Given the description of an element on the screen output the (x, y) to click on. 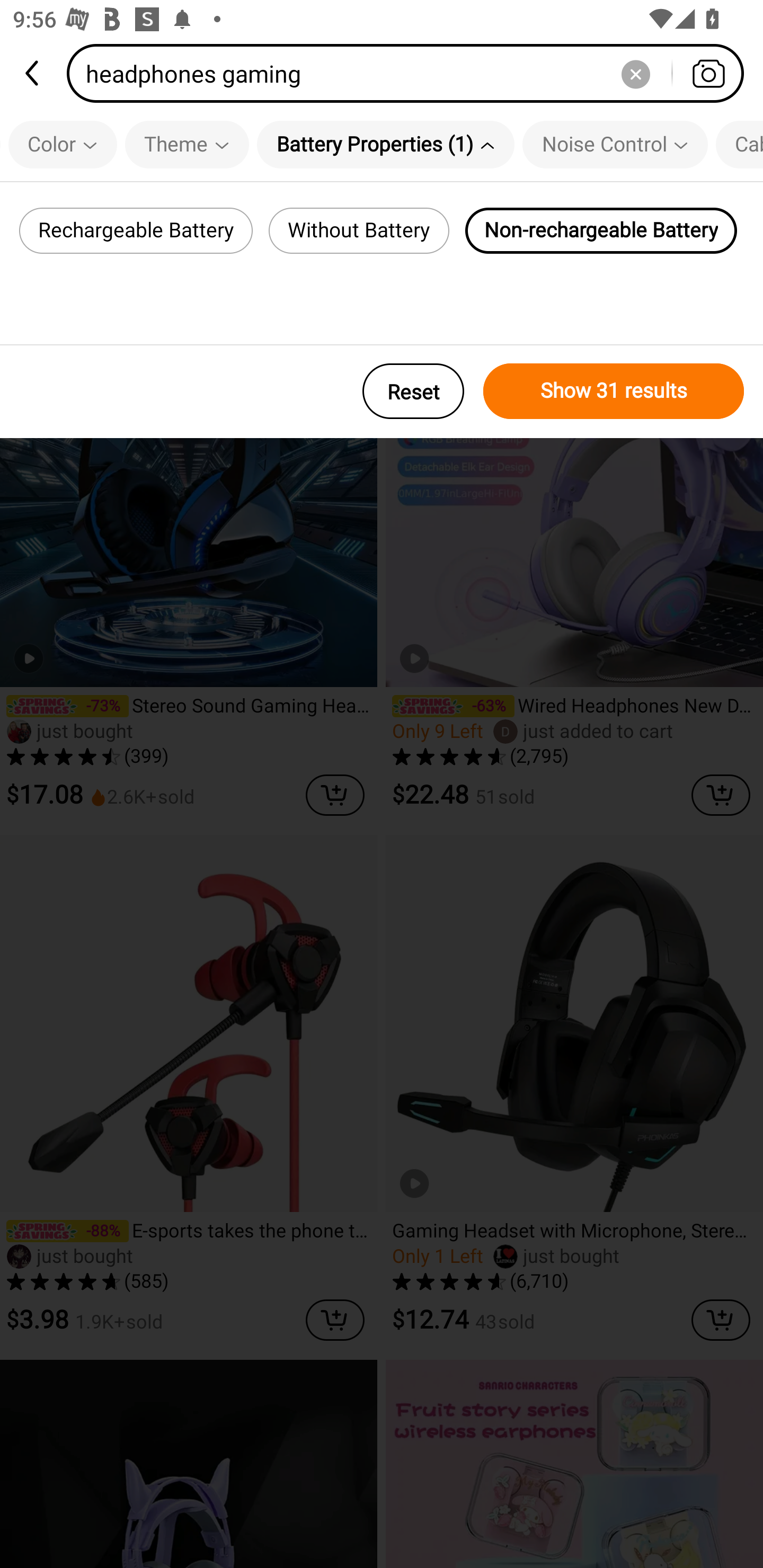
back (33, 72)
headphones gaming (411, 73)
Delete search history (635, 73)
Search by photo (708, 73)
Color (62, 143)
Theme (186, 143)
Battery Properties (1) (385, 143)
Noise Control (615, 143)
Rechargeable Battery (135, 230)
Without Battery (358, 230)
Non-rechargeable Battery (601, 230)
Reset (412, 390)
Show 31 results (612, 390)
